Given the description of an element on the screen output the (x, y) to click on. 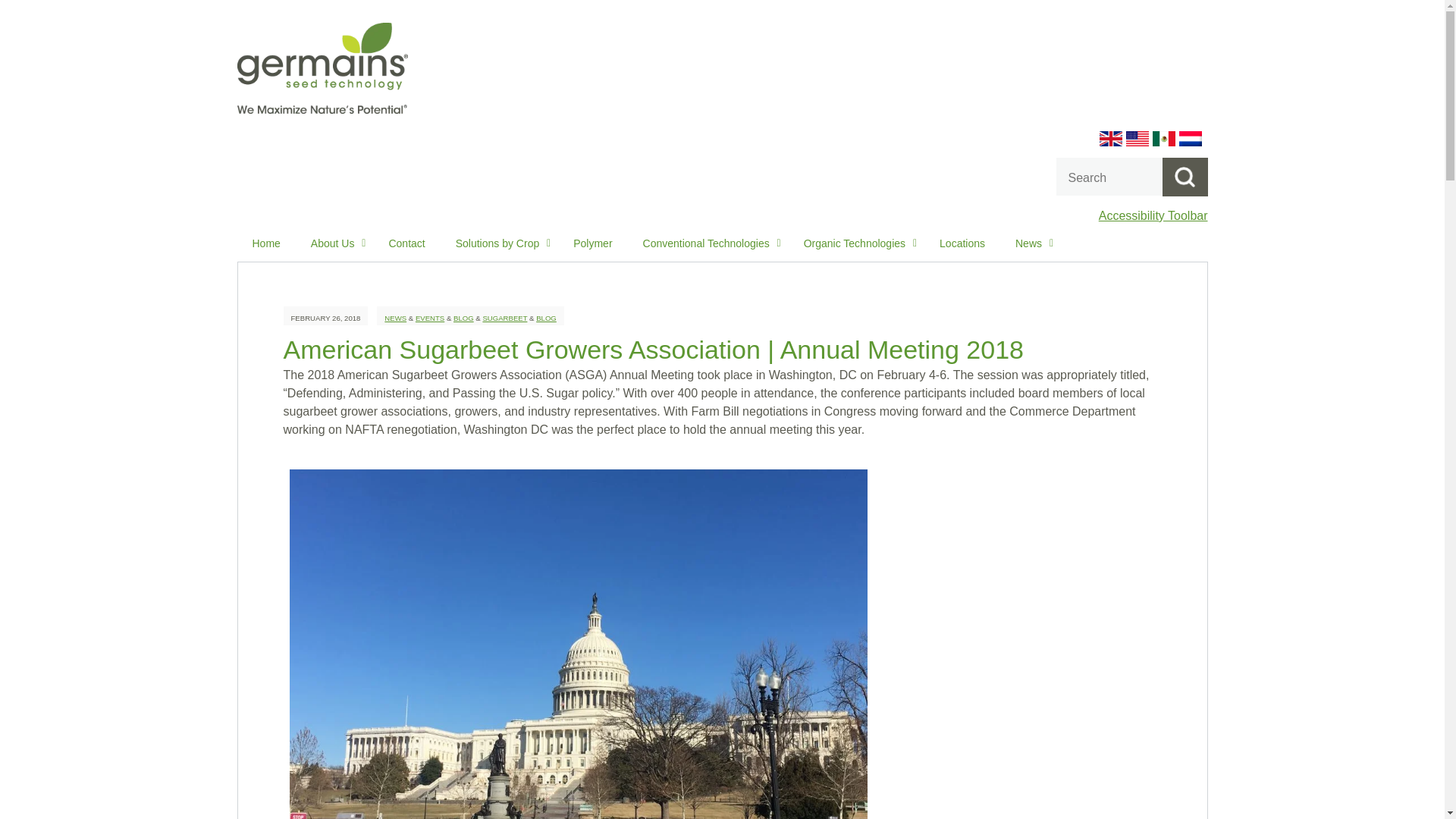
Solutions by Crop (500, 243)
Home (265, 243)
Accessibility Toolbar (1153, 215)
About Us (334, 243)
Search (1184, 177)
Contact (405, 243)
Search (1184, 177)
